Given the description of an element on the screen output the (x, y) to click on. 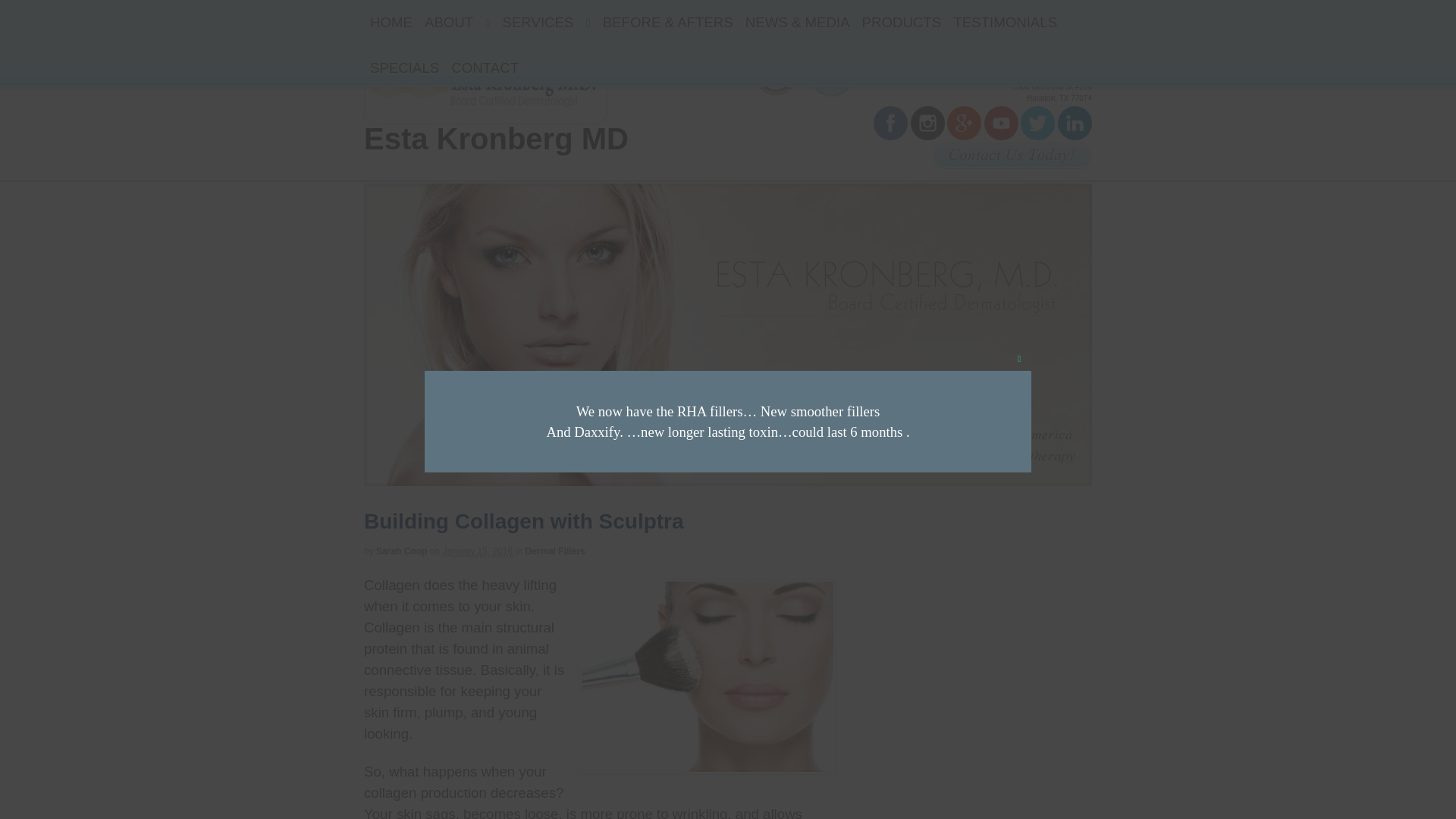
CONTACT (484, 67)
Posts by Sarah Coop (400, 551)
TESTIMONIALS (1005, 22)
SPECIALS (404, 67)
HOME (390, 22)
SERVICES (545, 22)
ABOUT (457, 22)
View all items in Dermal Fillers (554, 551)
PRODUCTS (901, 22)
